Given the description of an element on the screen output the (x, y) to click on. 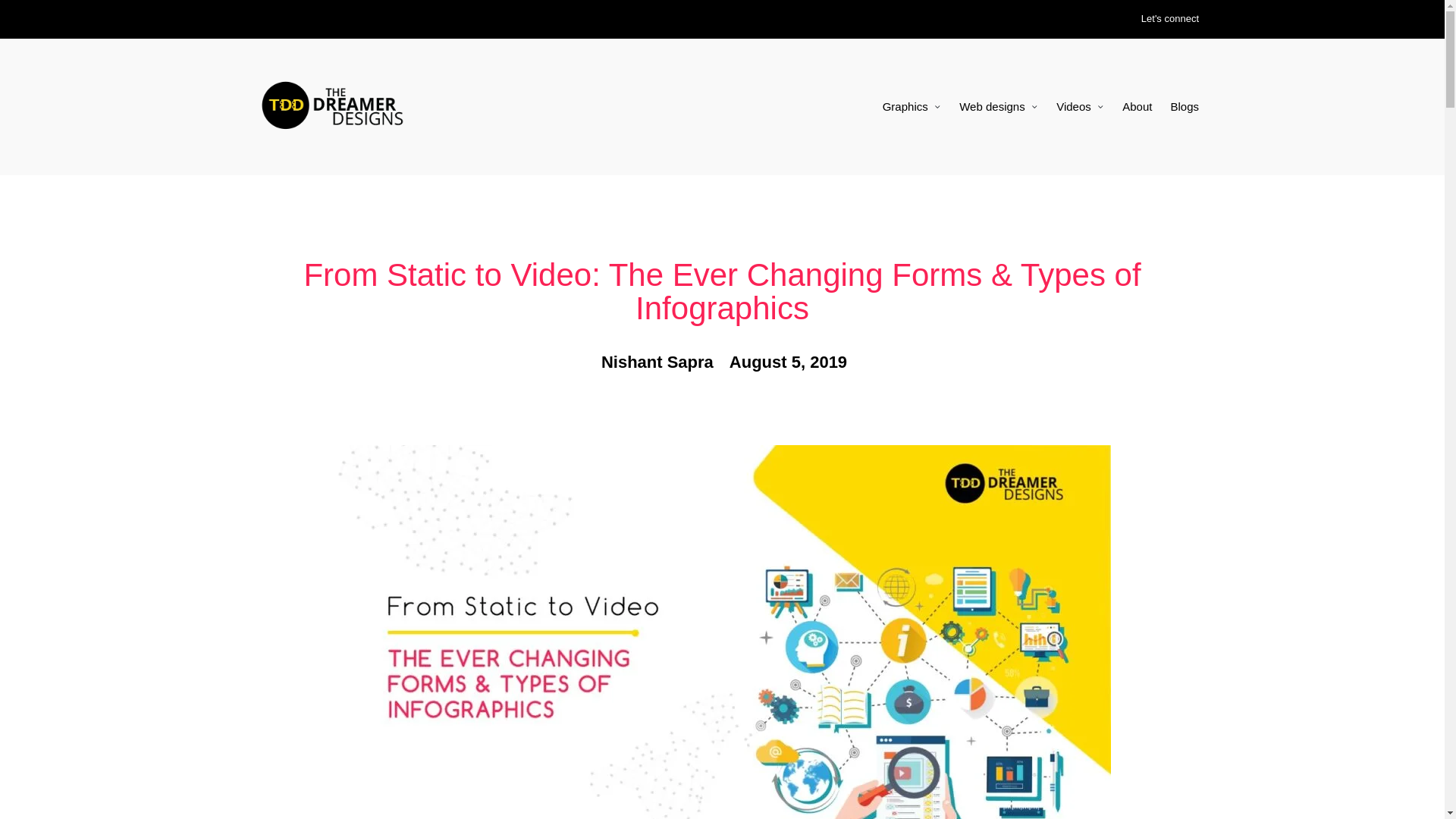
Videos (1080, 106)
Nishant Sapra (654, 362)
Web designs (998, 106)
About (1136, 106)
Let's connect (1169, 18)
Graphics (912, 106)
August 5, 2019 (786, 362)
Blogs (1184, 106)
